Given the description of an element on the screen output the (x, y) to click on. 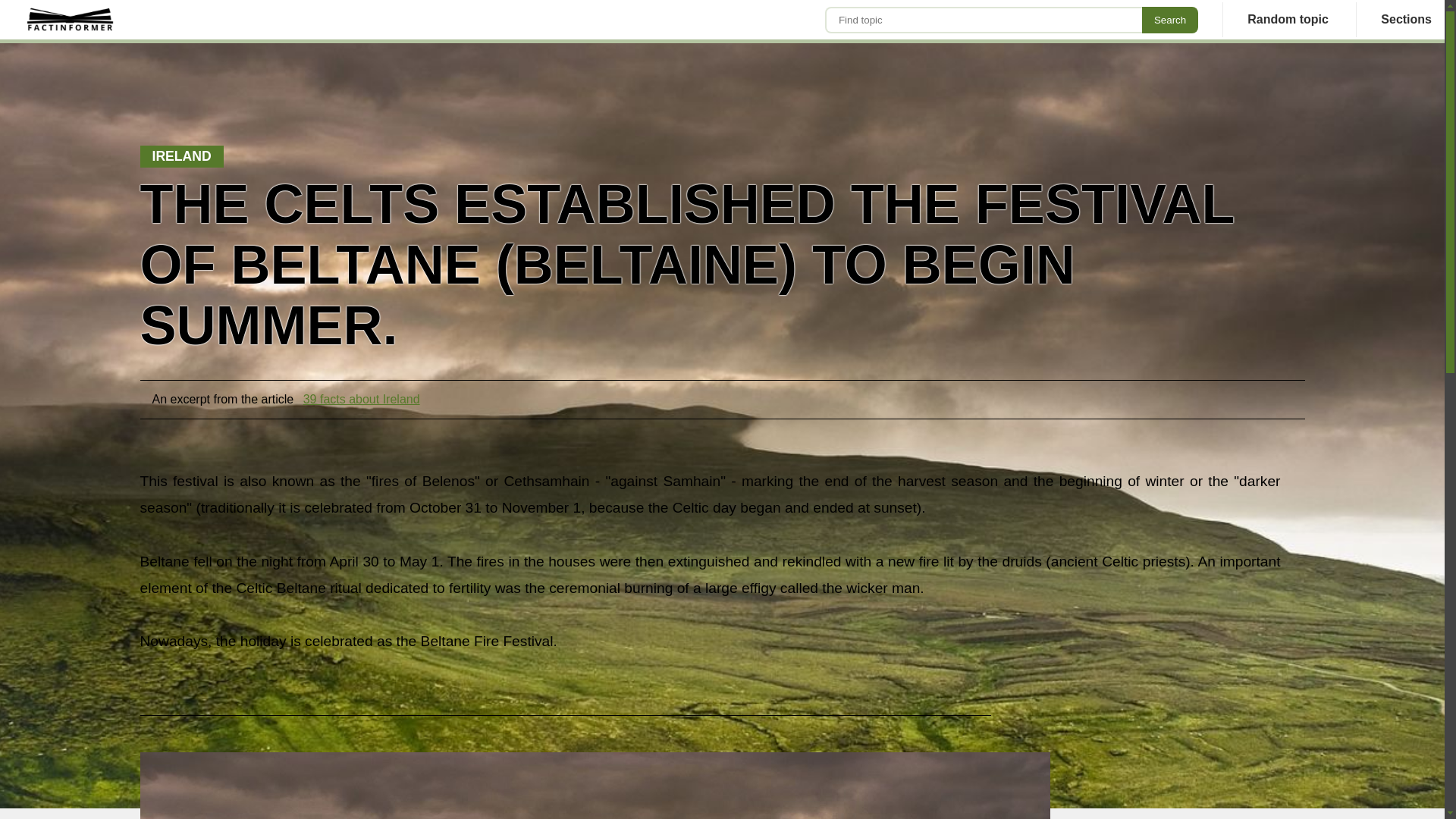
Search (1169, 18)
39 facts about Ireland (361, 399)
Search (1169, 18)
Random topic (1287, 19)
